Given the description of an element on the screen output the (x, y) to click on. 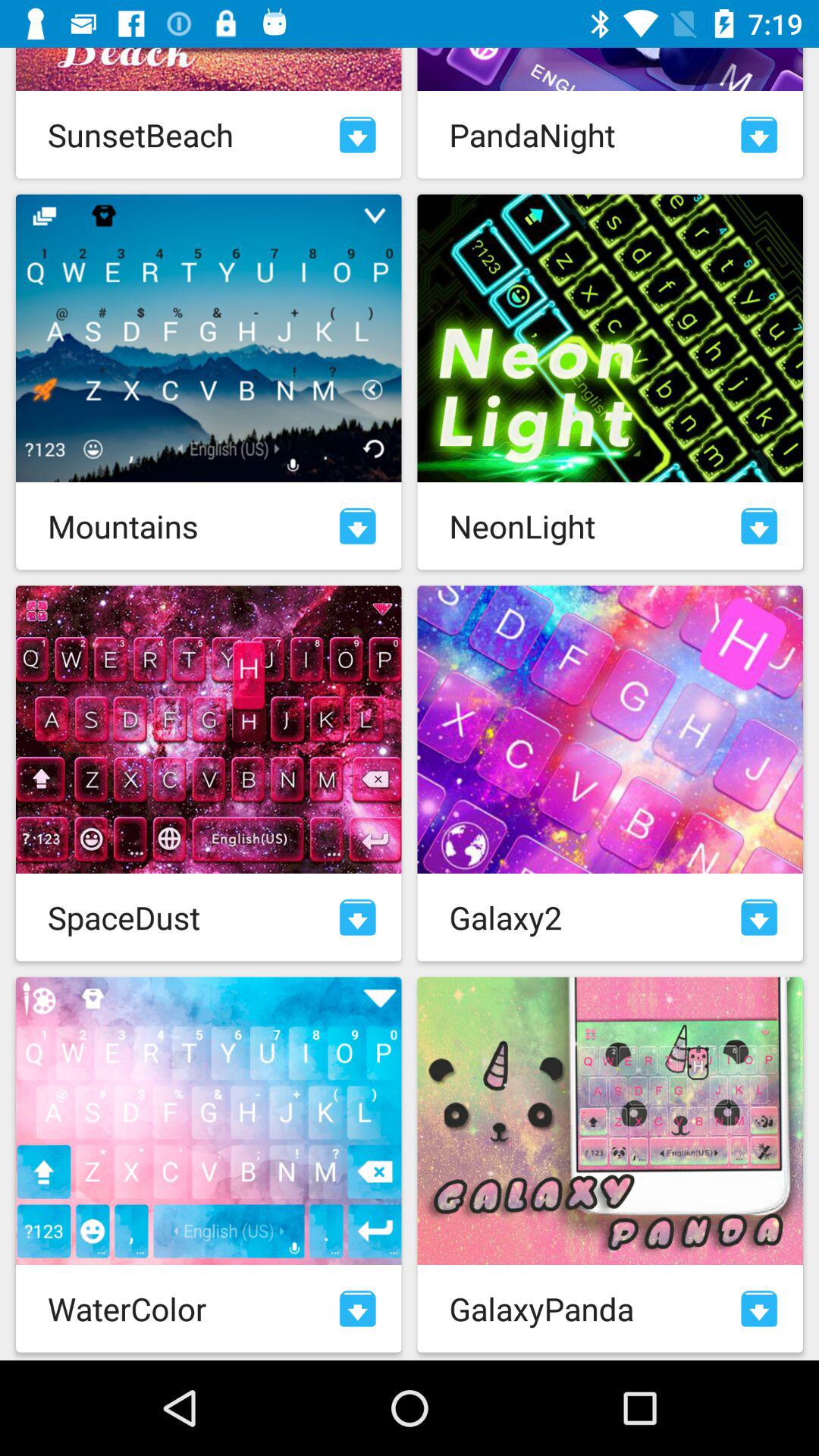
download element (759, 917)
